Given the description of an element on the screen output the (x, y) to click on. 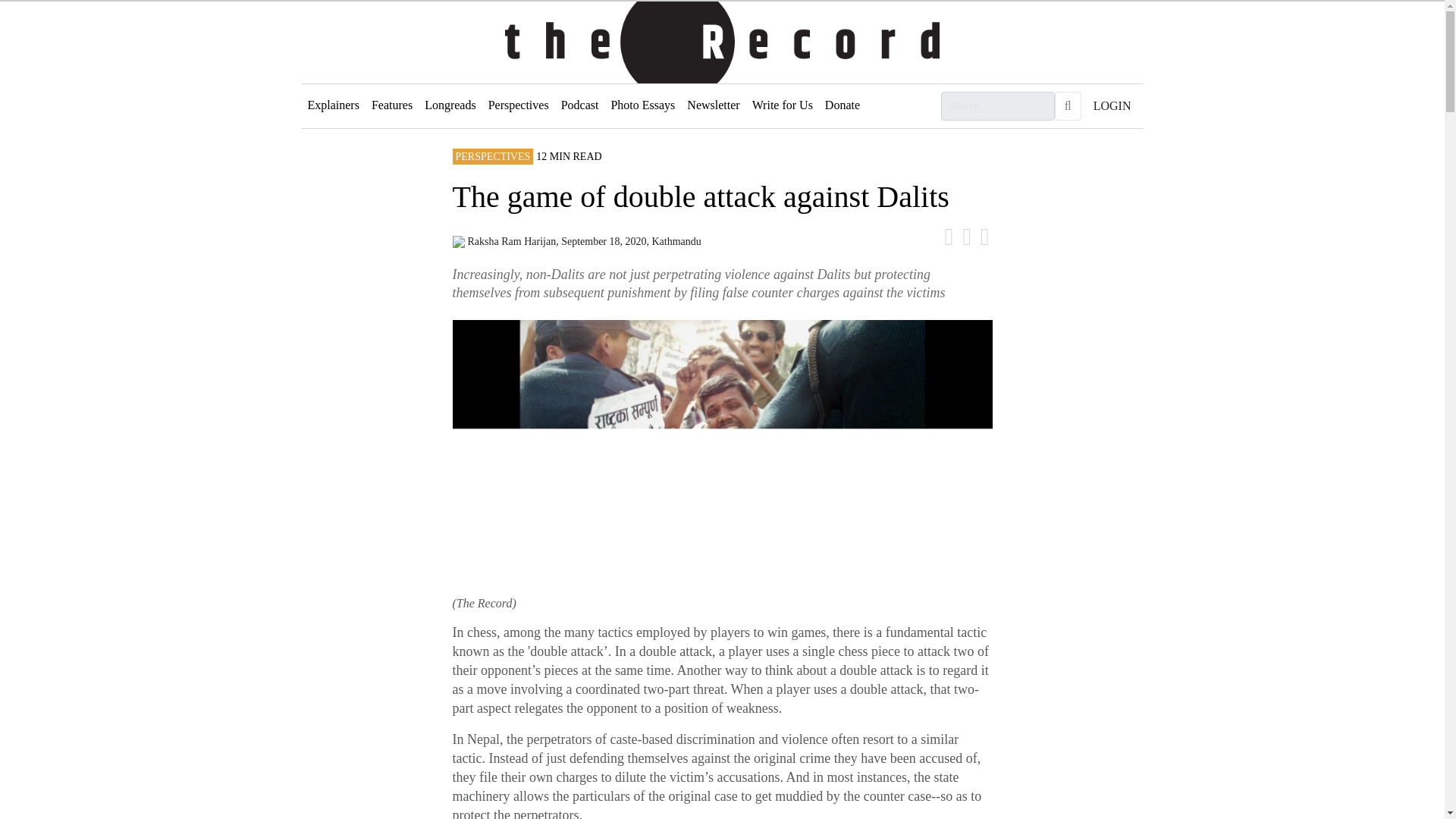
Longreads (450, 106)
Newsletter (713, 106)
Features (392, 106)
LOGIN (1111, 105)
Raksha Ram Harijan, (513, 241)
Podcast (579, 106)
Explainers (333, 106)
Perspectives (517, 106)
Donate (842, 106)
Write for Us (781, 106)
Photo Essays (642, 106)
